Given the description of an element on the screen output the (x, y) to click on. 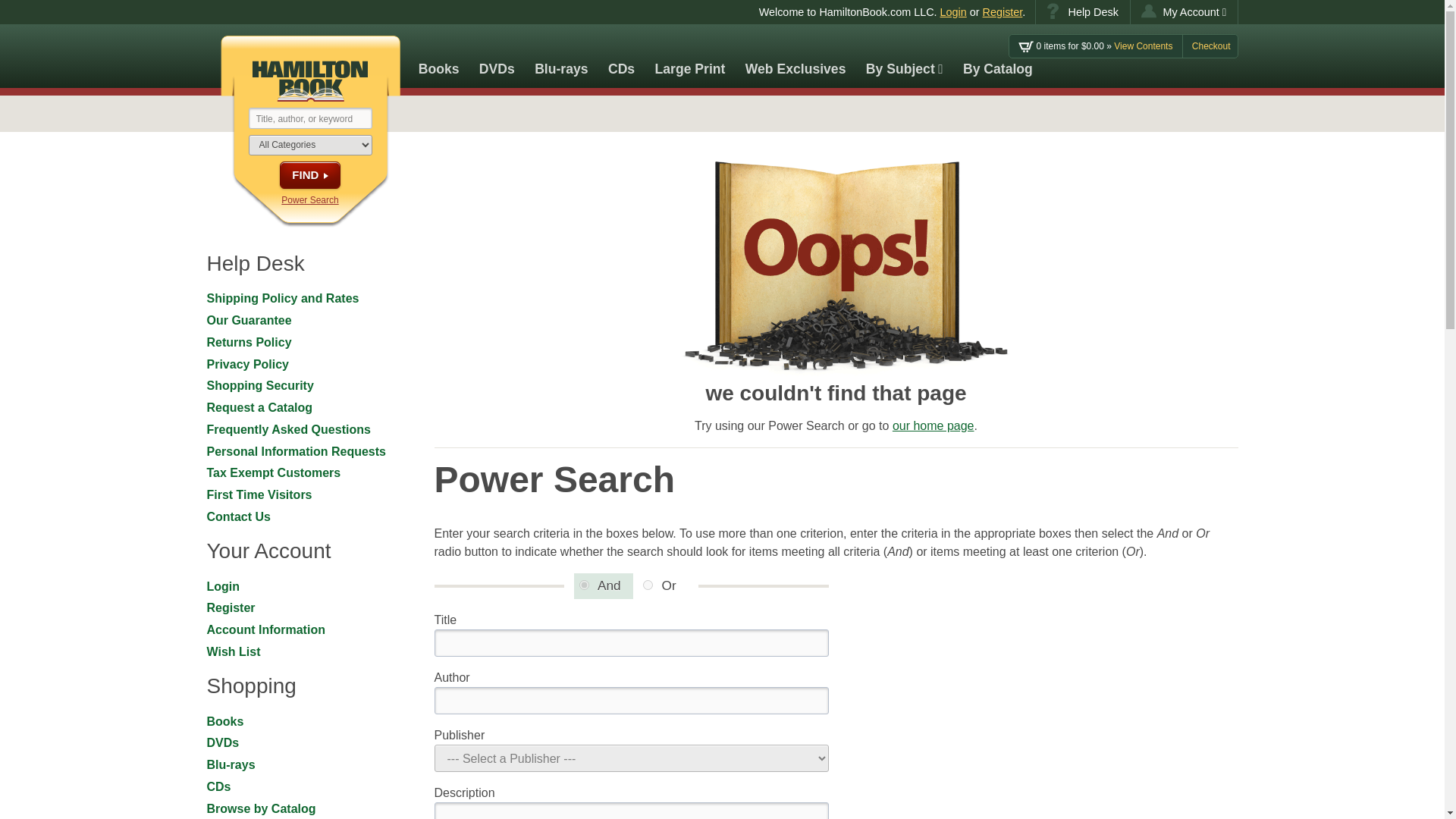
Login (953, 11)
Web Exclusives (795, 55)
Large Print (690, 55)
Click to open My Account menu (1184, 12)
Blu-rays (561, 55)
Help Desk (1082, 12)
FIND (309, 175)
Checkout (1211, 46)
Register (1002, 11)
Books (437, 55)
Power Search (309, 199)
or (647, 584)
Account Icon (1148, 10)
and (584, 584)
By Subject (904, 55)
